Given the description of an element on the screen output the (x, y) to click on. 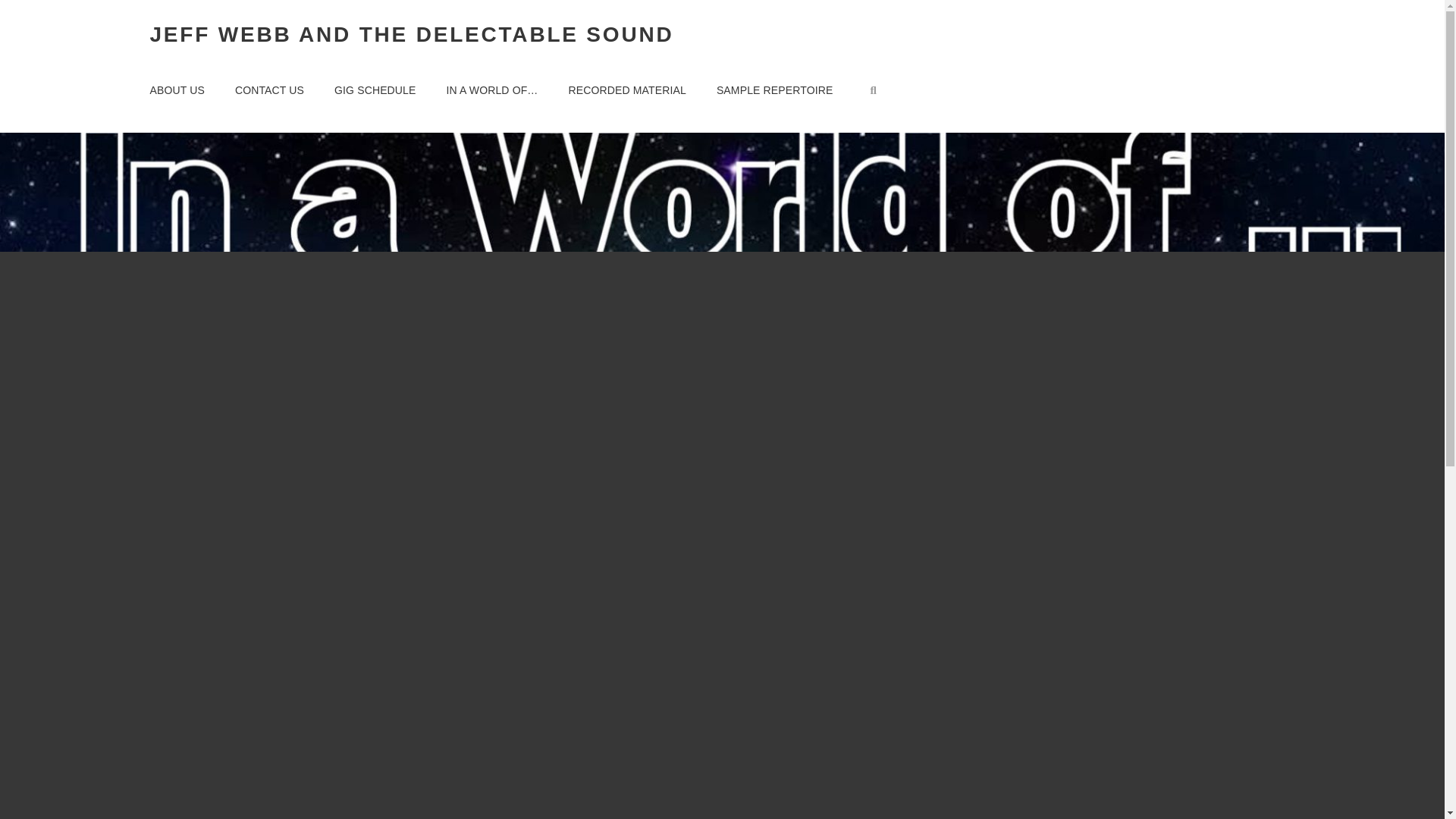
ABOUT US (177, 90)
RECORDED MATERIAL (627, 90)
CONTACT US (268, 90)
SEARCH (873, 90)
SAMPLE REPERTOIRE (774, 90)
GIG SCHEDULE (374, 90)
JEFF WEBB AND THE DELECTABLE SOUND (411, 33)
